Given the description of an element on the screen output the (x, y) to click on. 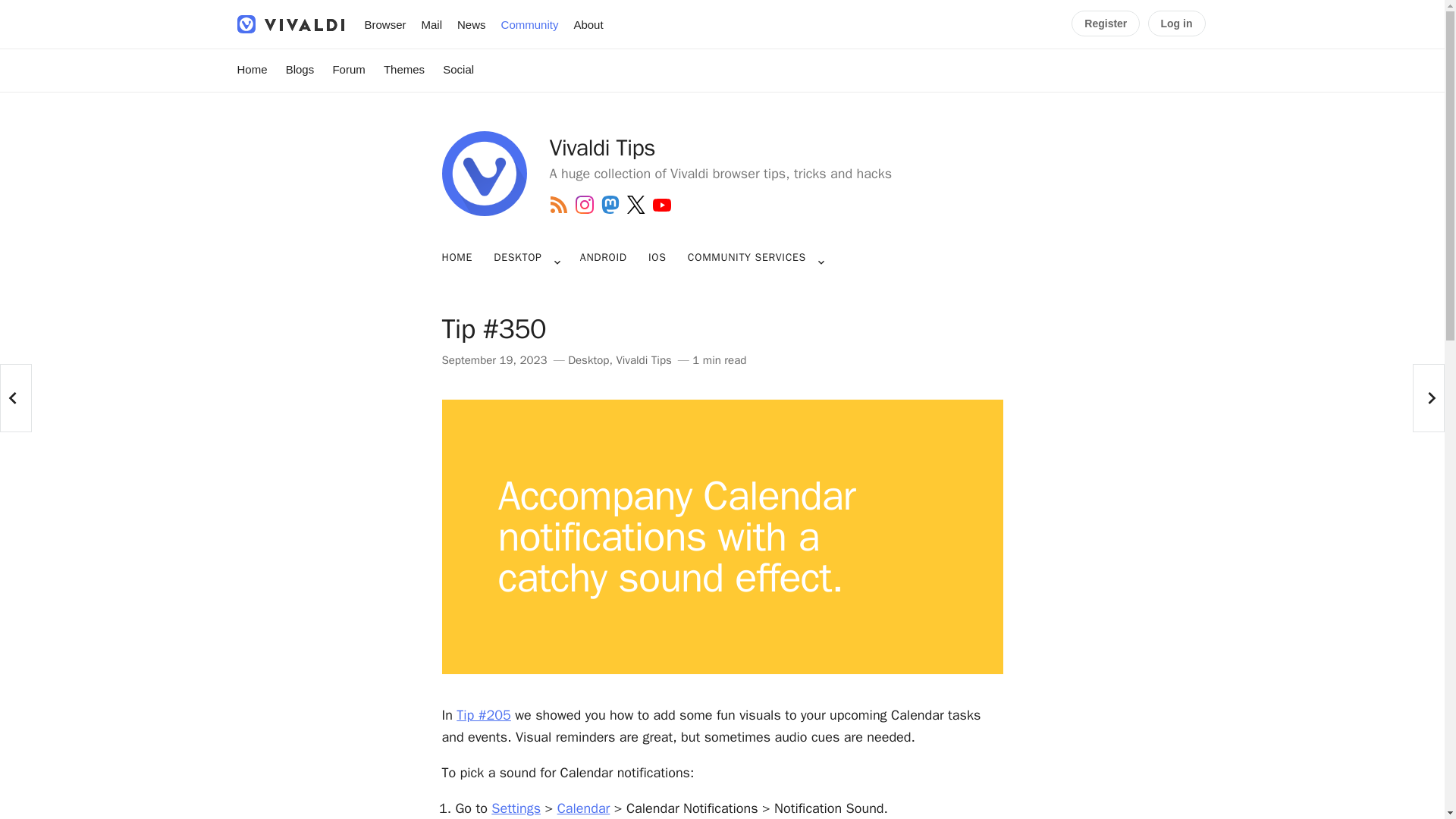
Mastodon (608, 204)
YouTube (660, 204)
Settings (516, 808)
X (635, 204)
Instagram (583, 204)
ANDROID (603, 257)
Vivaldi Tips (643, 359)
Calendar (583, 808)
HOME (461, 257)
DESKTOP (517, 257)
COMMUNITY SERVICES (746, 257)
September 19, 2023 (494, 359)
Desktop (587, 359)
IOS (657, 257)
